Given the description of an element on the screen output the (x, y) to click on. 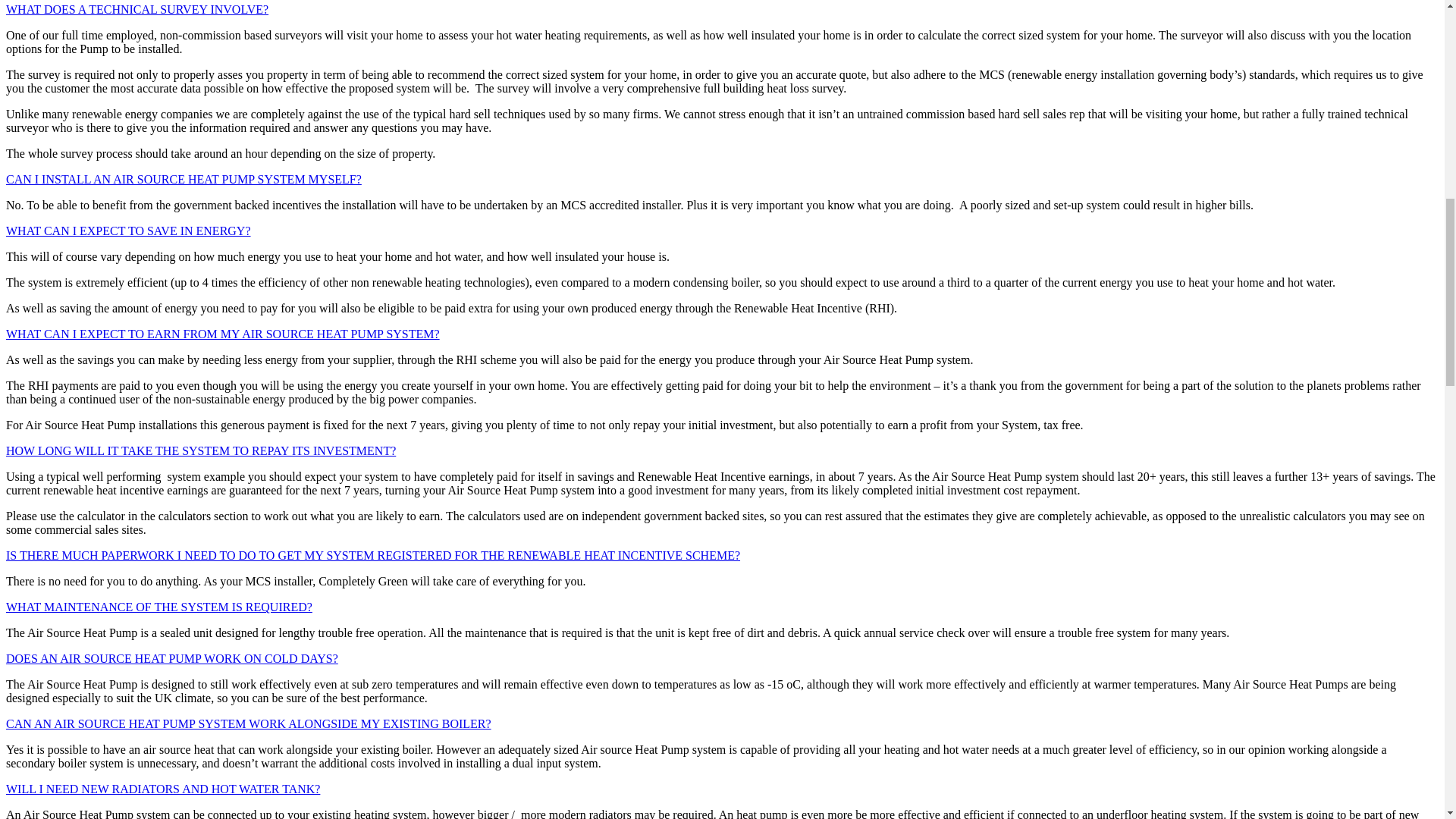
CAN I INSTALL AN AIR SOURCE HEAT PUMP SYSTEM MYSELF? (183, 178)
HOW LONG WILL IT TAKE THE SYSTEM TO REPAY ITS INVESTMENT? (200, 450)
WHAT CAN I EXPECT TO SAVE IN ENERGY? (127, 230)
WHAT DOES A TECHNICAL SURVEY INVOLVE? (136, 9)
